Given the description of an element on the screen output the (x, y) to click on. 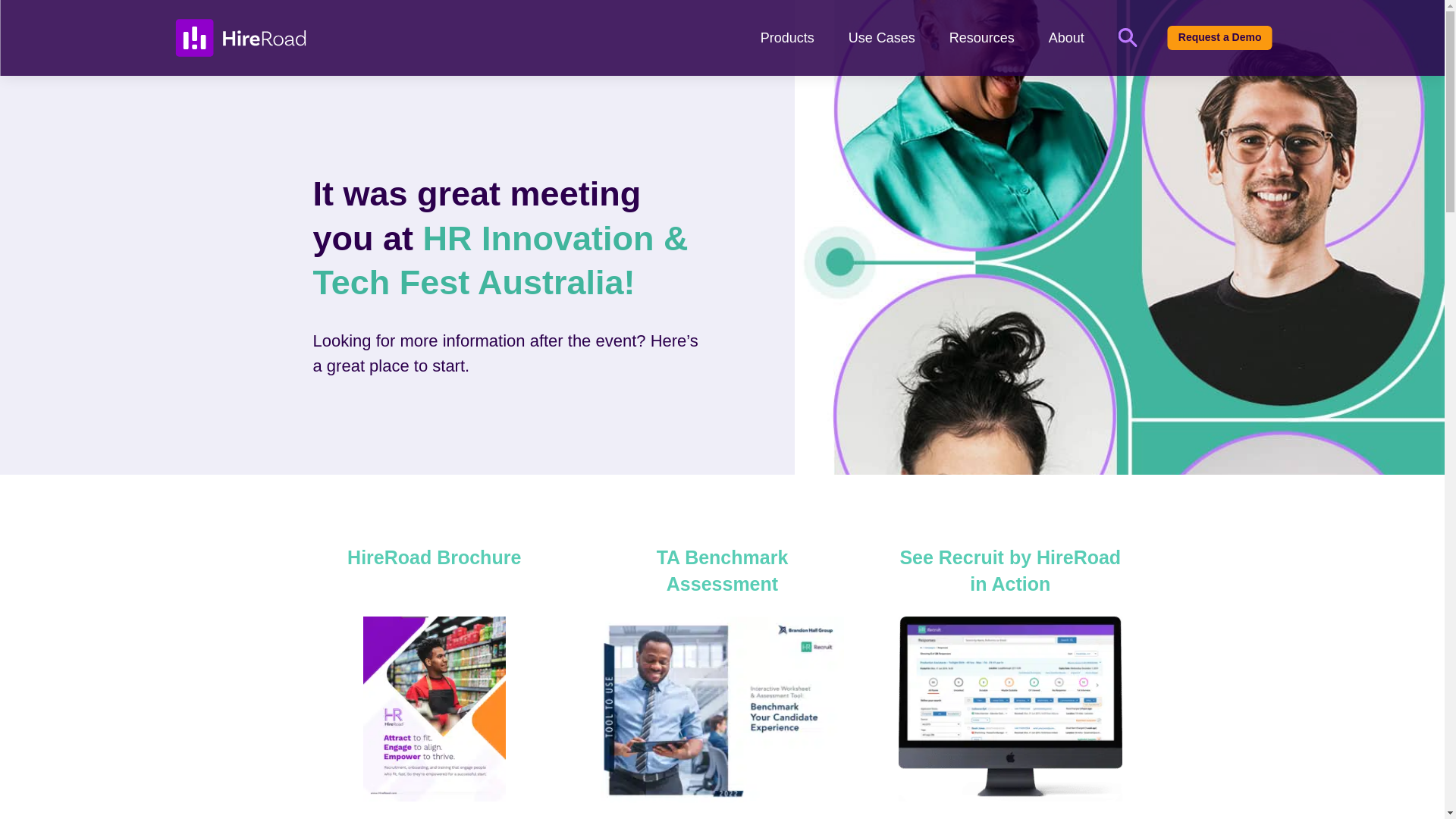
Use Cases (881, 37)
Products (786, 37)
Request a Demo (1219, 37)
About (1066, 37)
Resources (981, 37)
